Given the description of an element on the screen output the (x, y) to click on. 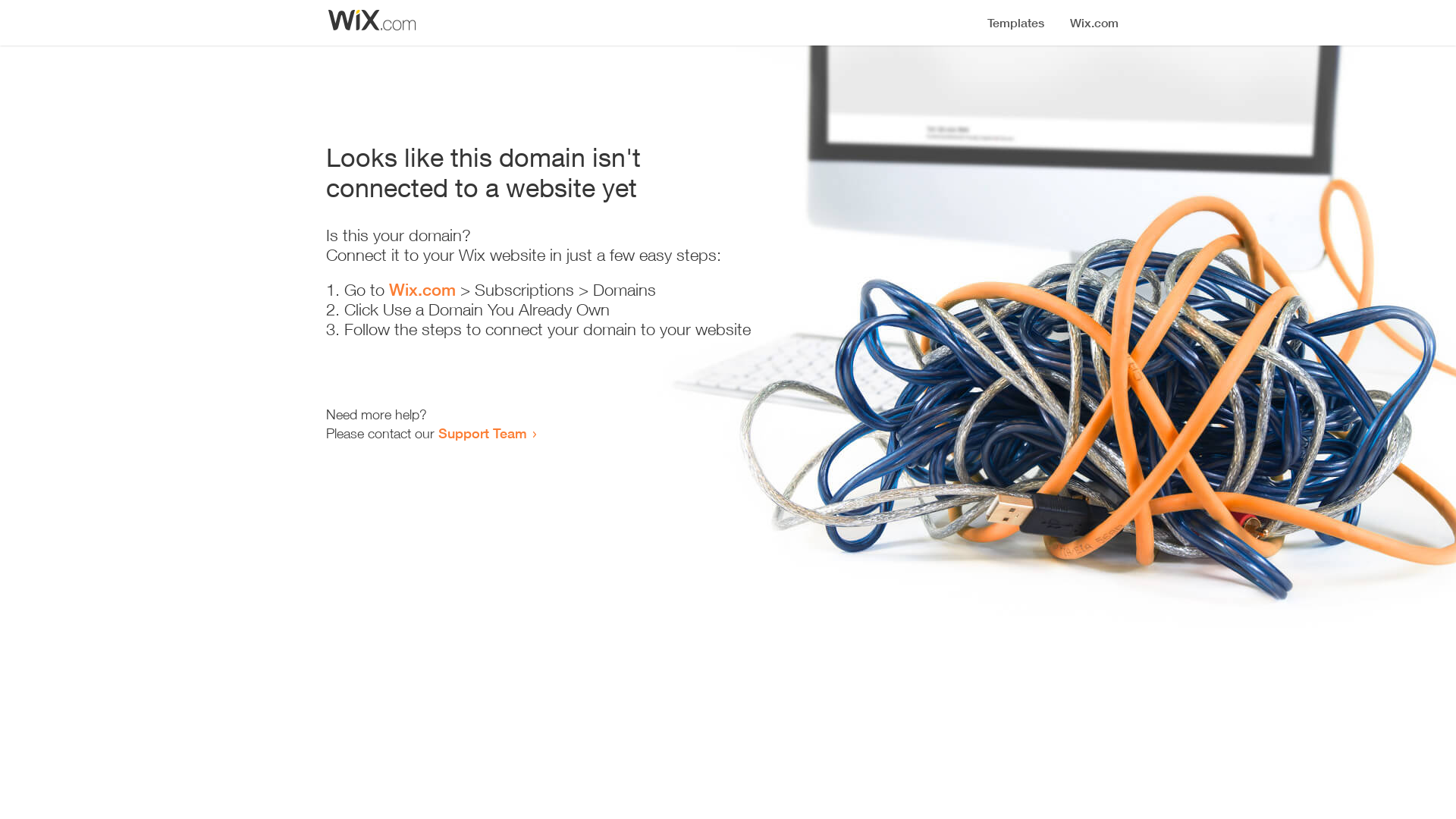
Wix.com Element type: text (422, 289)
Support Team Element type: text (482, 432)
